Given the description of an element on the screen output the (x, y) to click on. 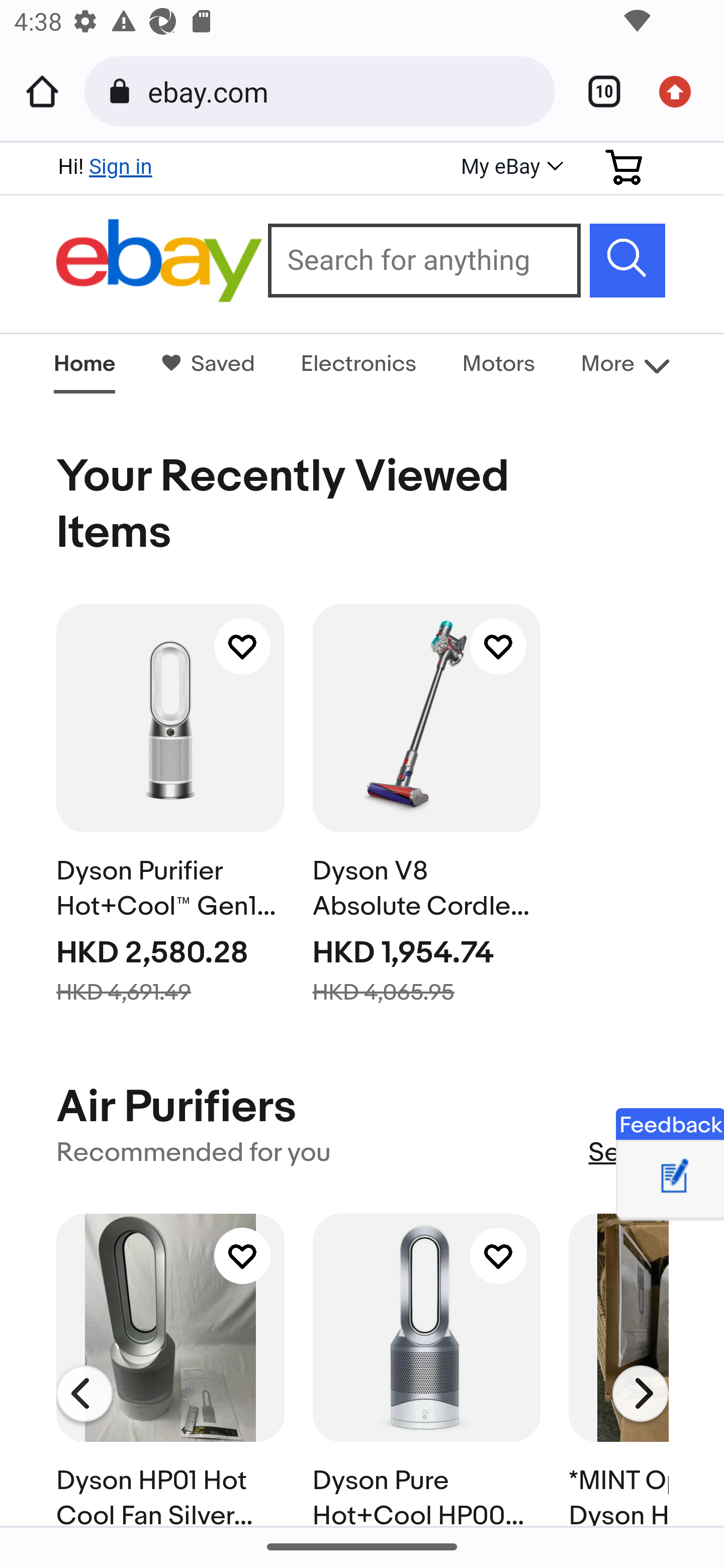
Home (42, 91)
Connection is secure (122, 91)
Switch or close tabs (597, 91)
Update available. More options (681, 91)
ebay.com (343, 90)
Your shopping cart (624, 166)
My eBay (510, 167)
Sign in (120, 166)
eBay Home eBay Home eBay Home (160, 260)
Search (626, 260)
Saved (218, 362)
Electronics (358, 362)
Motors (498, 362)
Air Purifiers Air Purifiers Air Purifiers (176, 1109)
Go to the previous slide, Air Purifiers - Carousel (84, 1393)
Go to the next slide, Air Purifiers - Carousel (641, 1393)
